Given the description of an element on the screen output the (x, y) to click on. 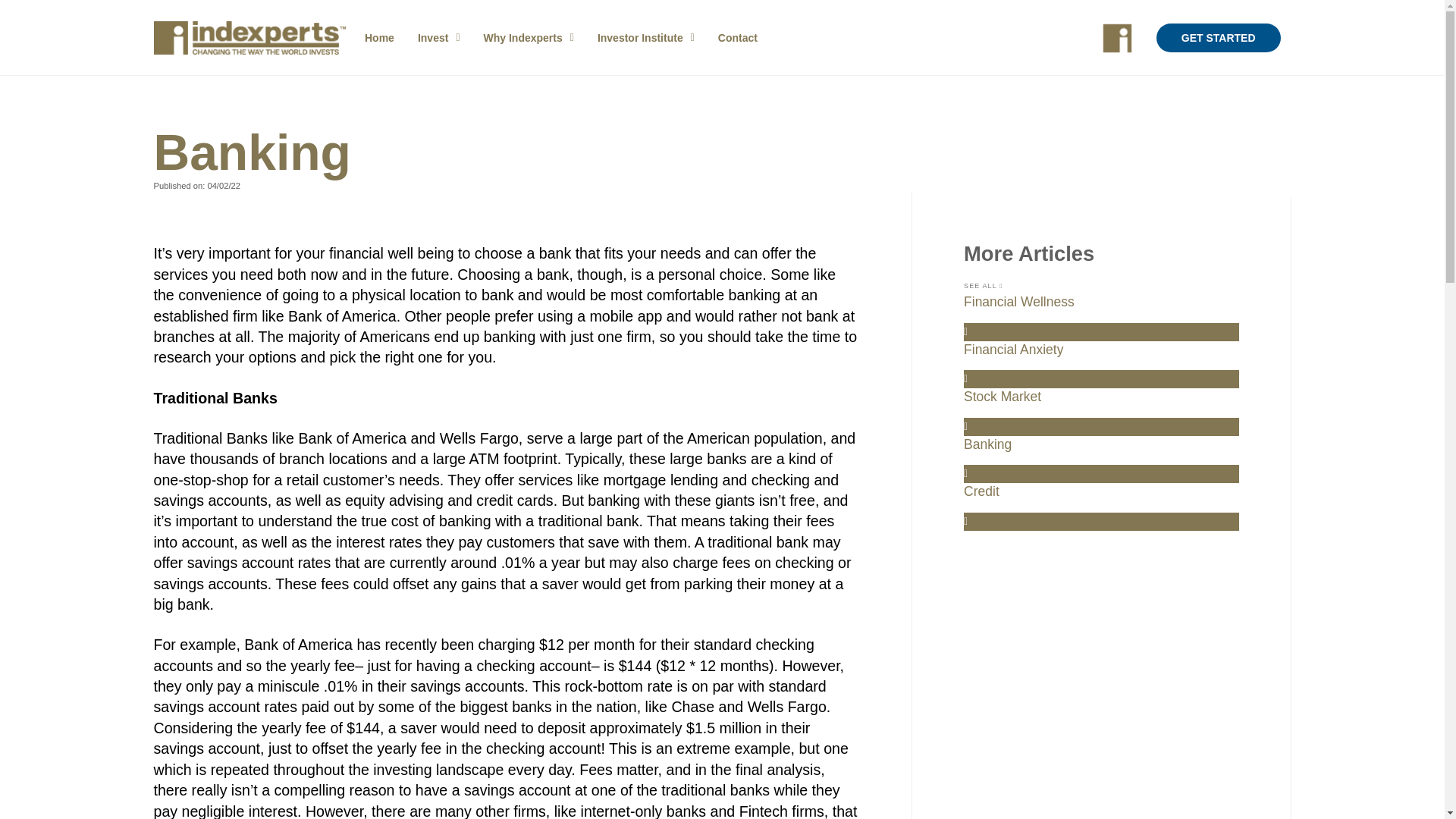
Financial Anxiety (1101, 364)
Home (379, 38)
Stock Market (1101, 411)
Contact (737, 38)
Credit (1101, 506)
Investor Institute (645, 38)
Banking (1101, 459)
SEE ALL (982, 285)
Why Indexperts (528, 38)
Invest (438, 38)
Financial Wellness (1101, 316)
GET STARTED (1218, 37)
